Given the description of an element on the screen output the (x, y) to click on. 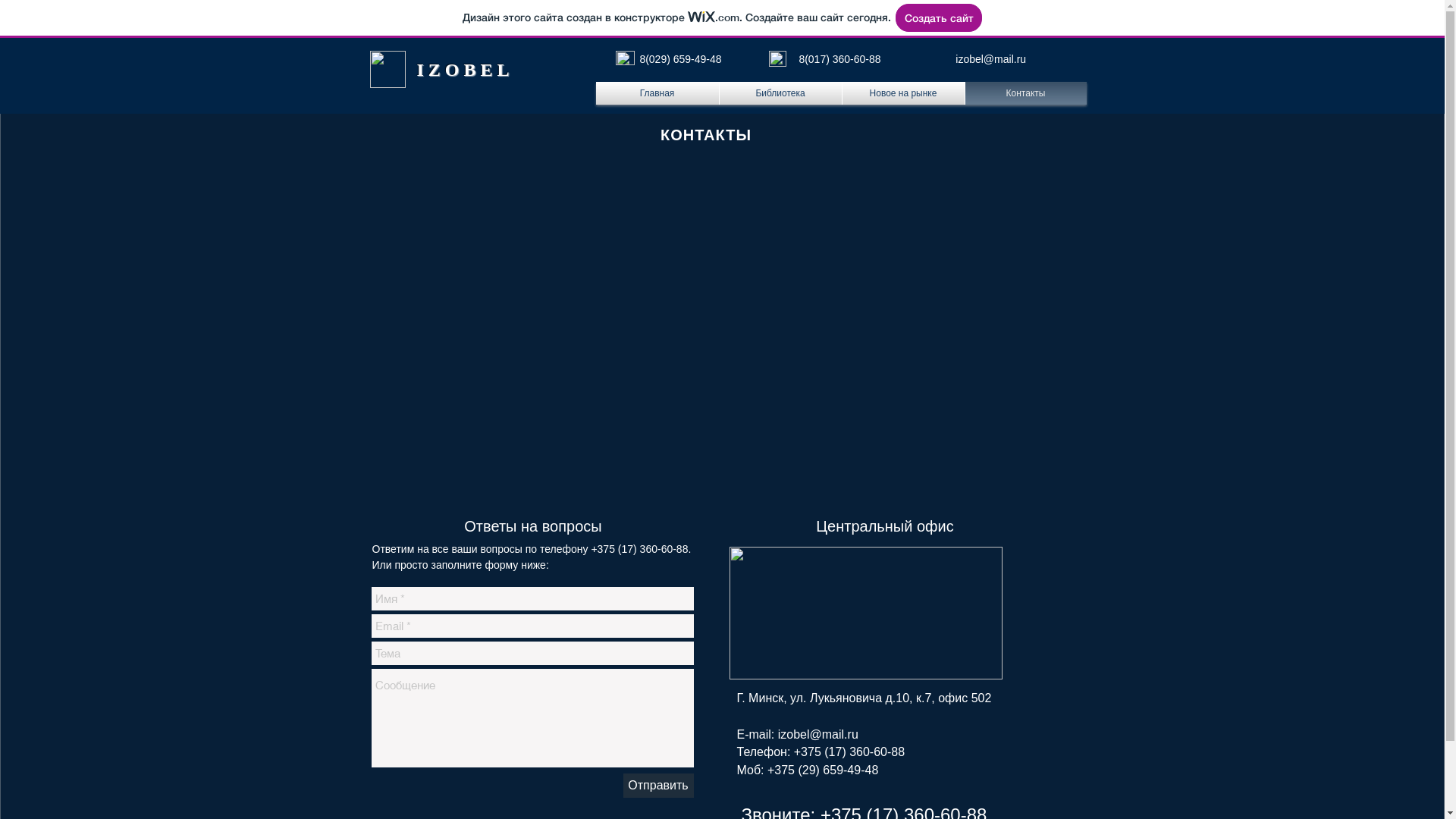
izobel@mail.ru Element type: text (818, 734)
I Z O B E L Element type: text (463, 69)
izobel@mail.ru Element type: text (990, 59)
